Given the description of an element on the screen output the (x, y) to click on. 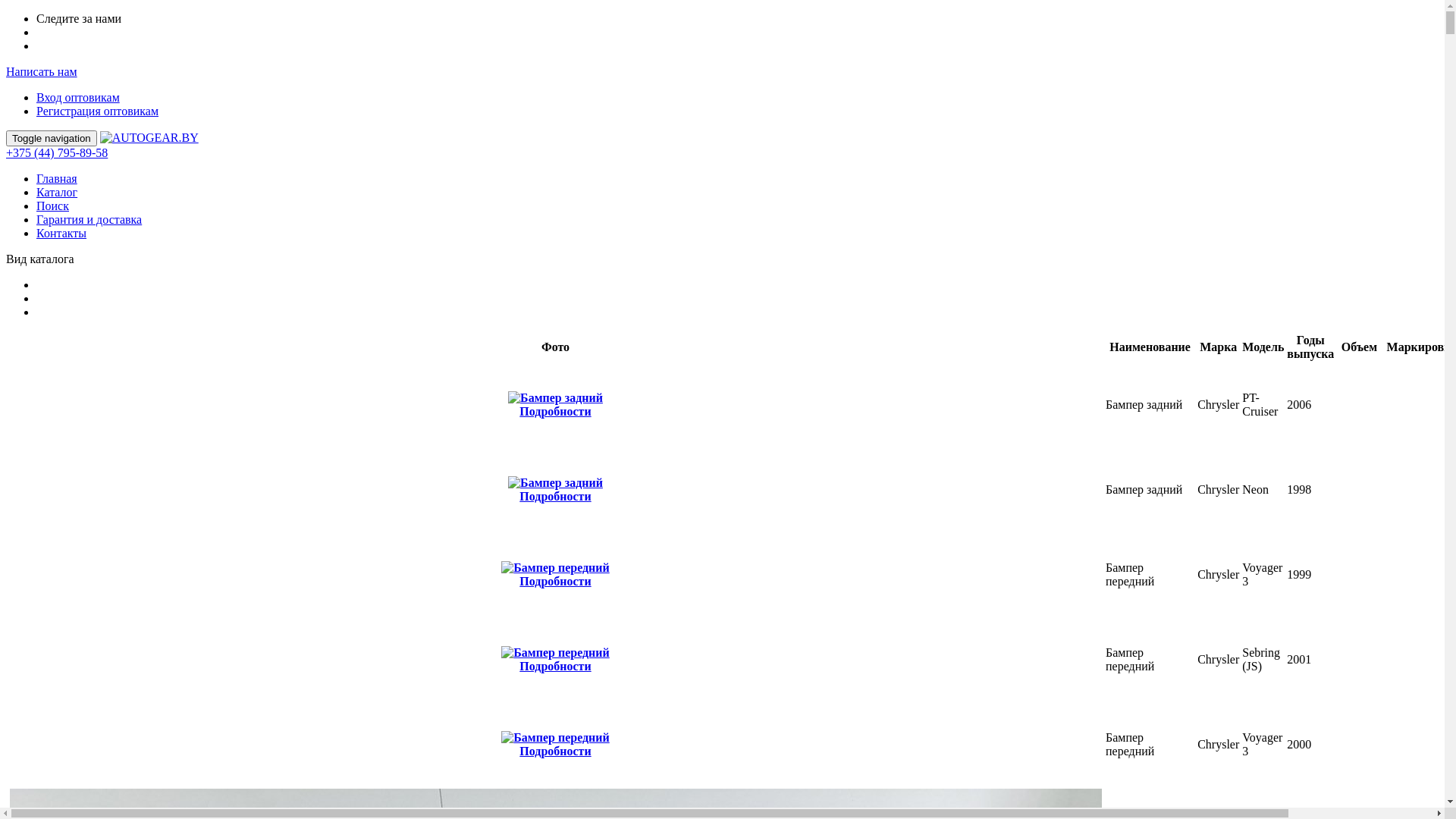
Toggle navigation Element type: text (51, 138)
+375 (44) 795-89-58 Element type: text (56, 152)
